Given the description of an element on the screen output the (x, y) to click on. 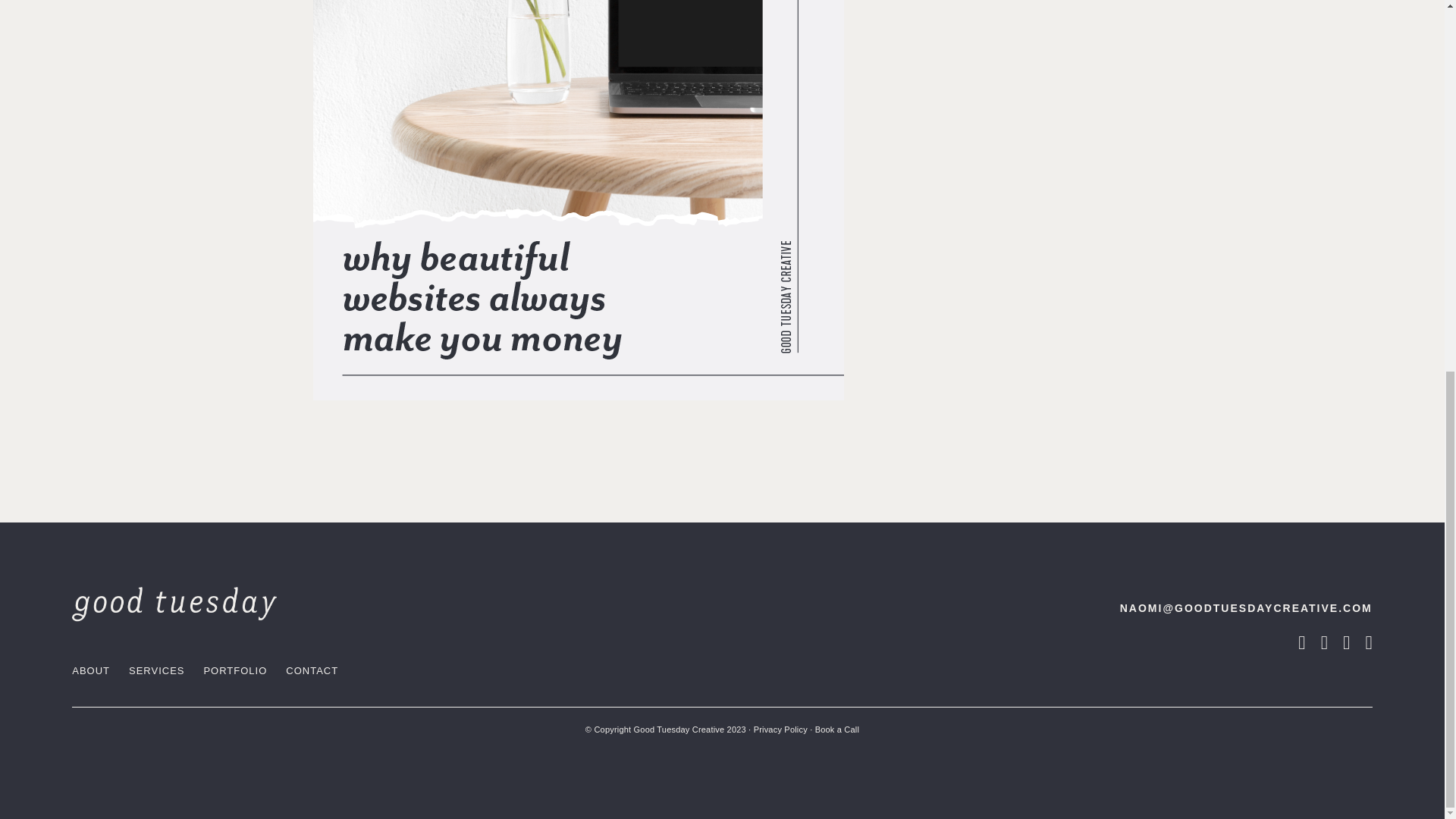
CONTACT (311, 670)
Book a Call (837, 728)
SERVICES (156, 670)
PORTFOLIO (234, 670)
Privacy Policy (781, 728)
ABOUT (90, 670)
